Given the description of an element on the screen output the (x, y) to click on. 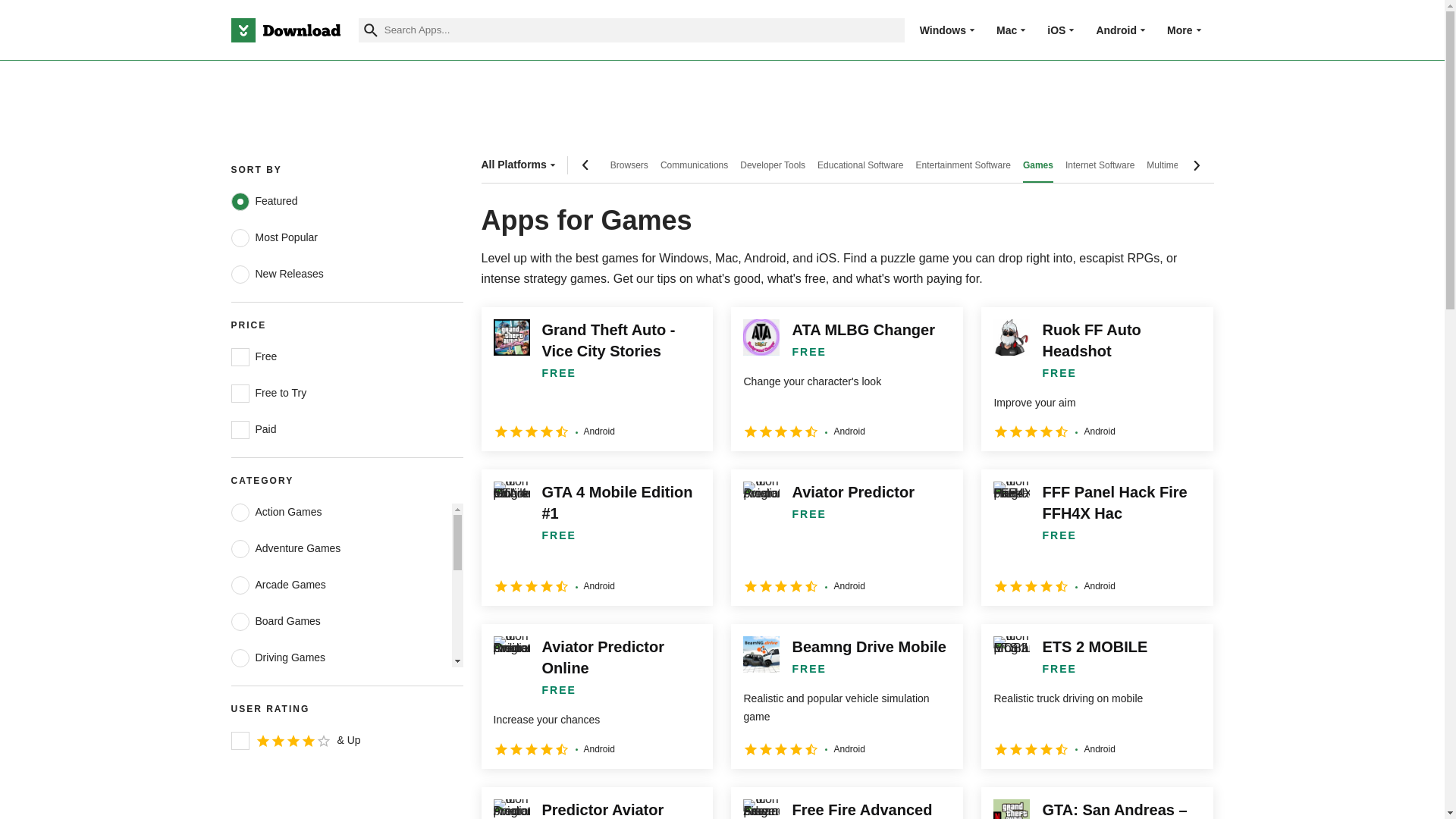
ATA MLBG Changer (846, 379)
Mac (1005, 29)
games-board-tabletop (239, 621)
Aviator Predictor Online (596, 696)
Aviator Predictor (846, 537)
games-action (239, 512)
FFF Panel Hack Fire FFH4X Hac (1096, 537)
freeToTry (239, 393)
games-kids (239, 730)
paid (239, 429)
